Given the description of an element on the screen output the (x, y) to click on. 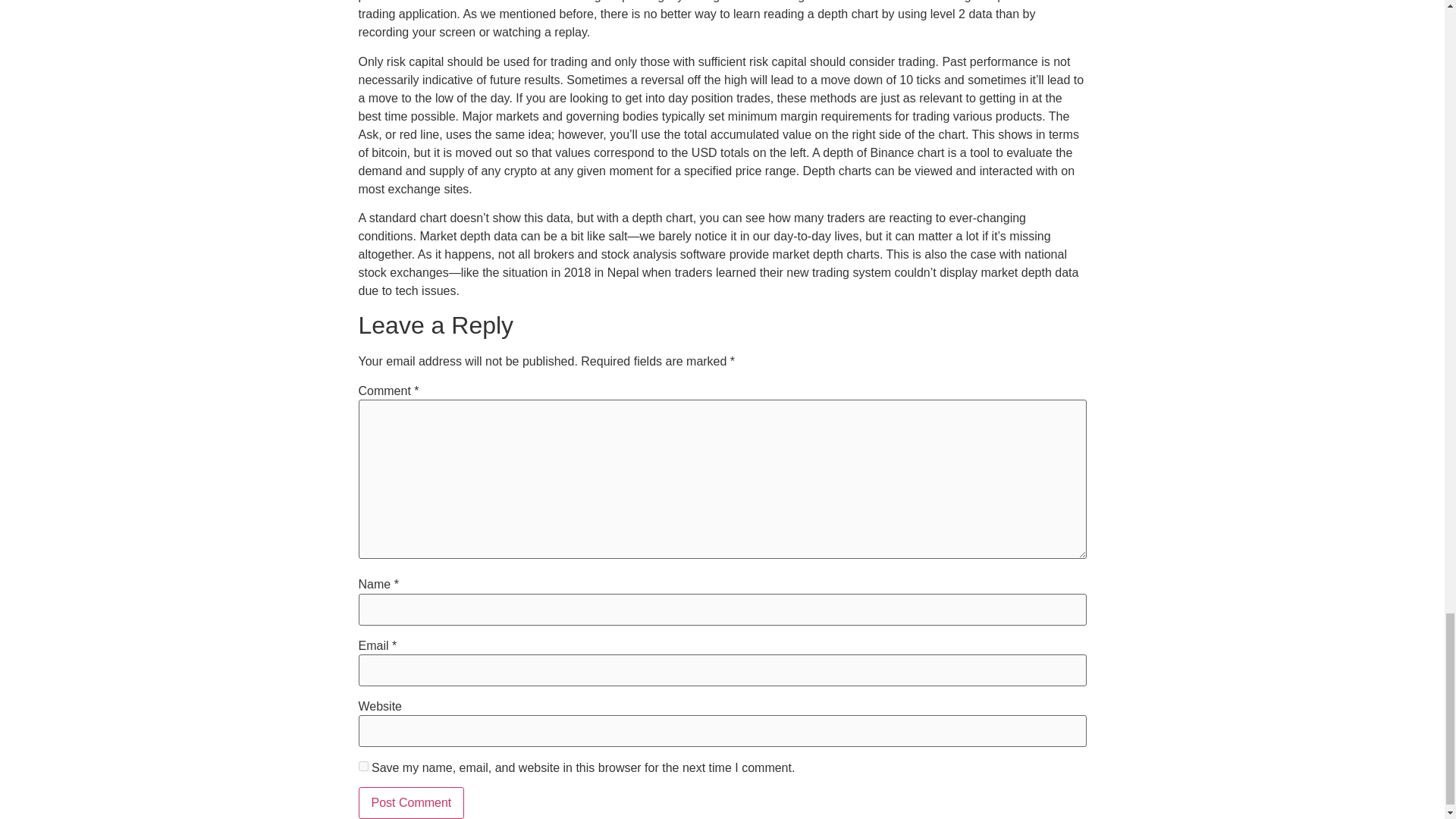
yes (363, 766)
